Given the description of an element on the screen output the (x, y) to click on. 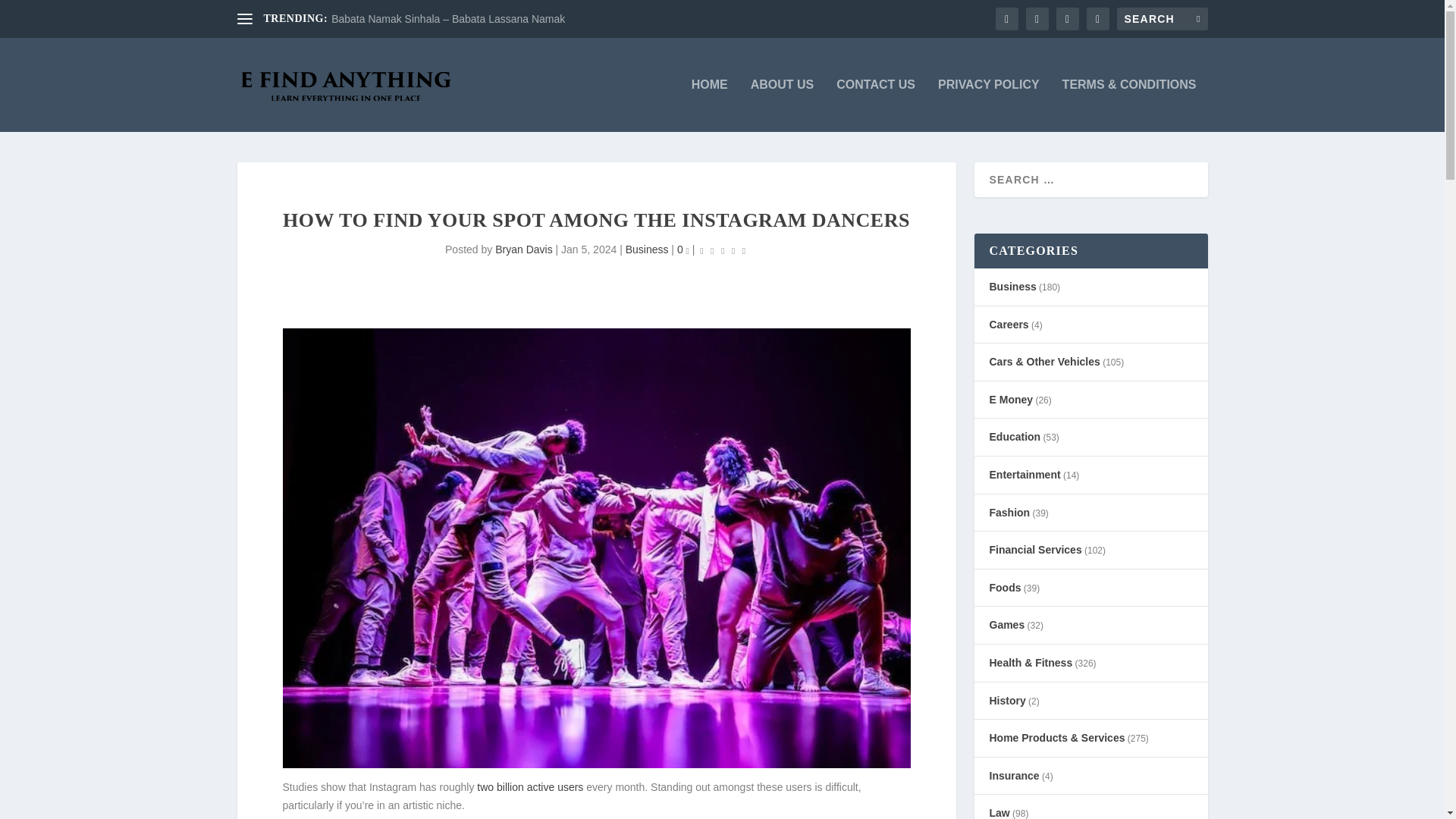
Posts by Bryan Davis (523, 249)
CONTACT US (875, 104)
Business (647, 249)
Rating: 0.00 (722, 250)
0 (682, 249)
PRIVACY POLICY (988, 104)
Search for: (1161, 18)
two billion active users (530, 787)
Bryan Davis (523, 249)
ABOUT US (782, 104)
